Given the description of an element on the screen output the (x, y) to click on. 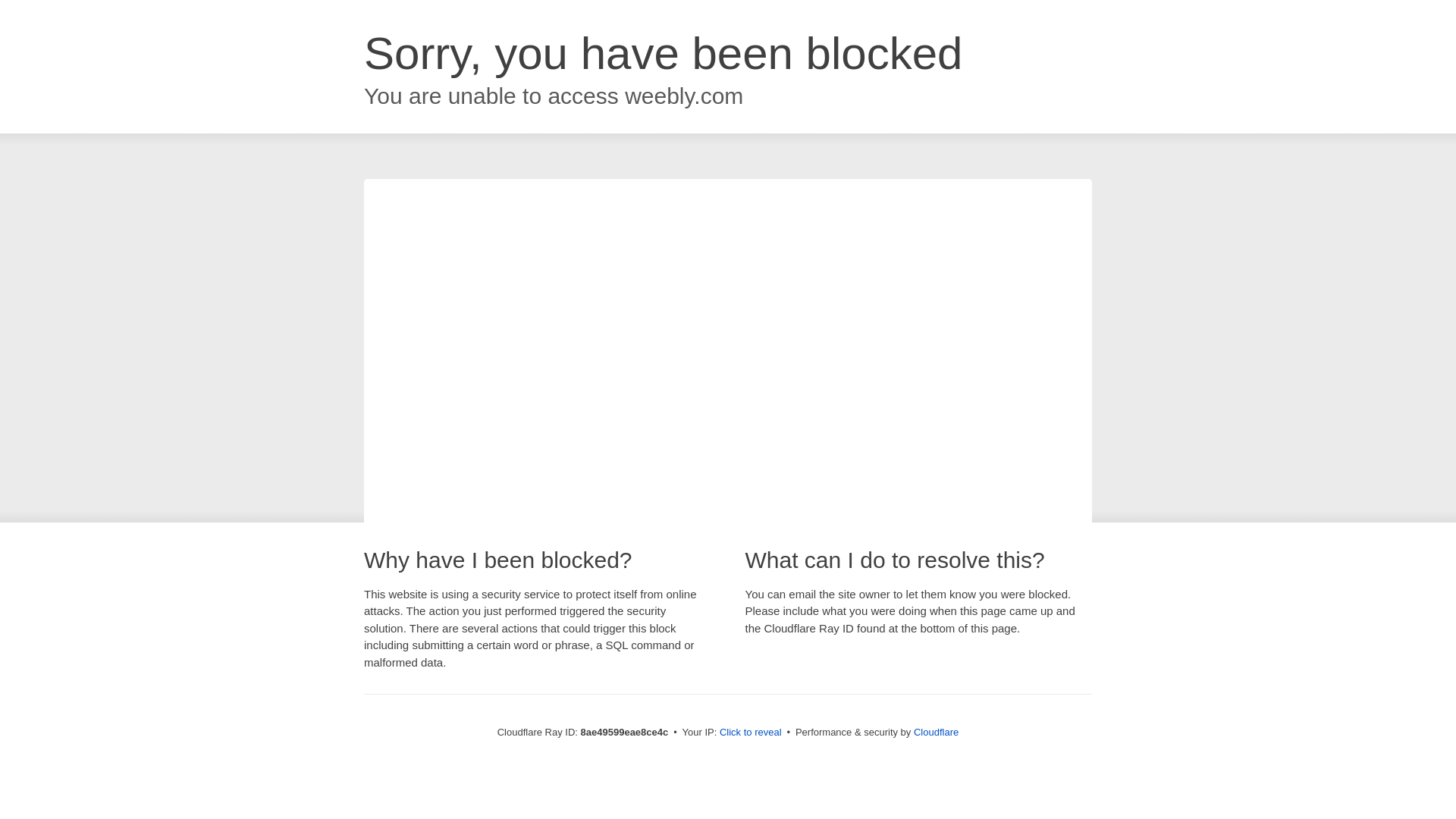
Cloudflare (936, 731)
Click to reveal (750, 732)
